Given the description of an element on the screen output the (x, y) to click on. 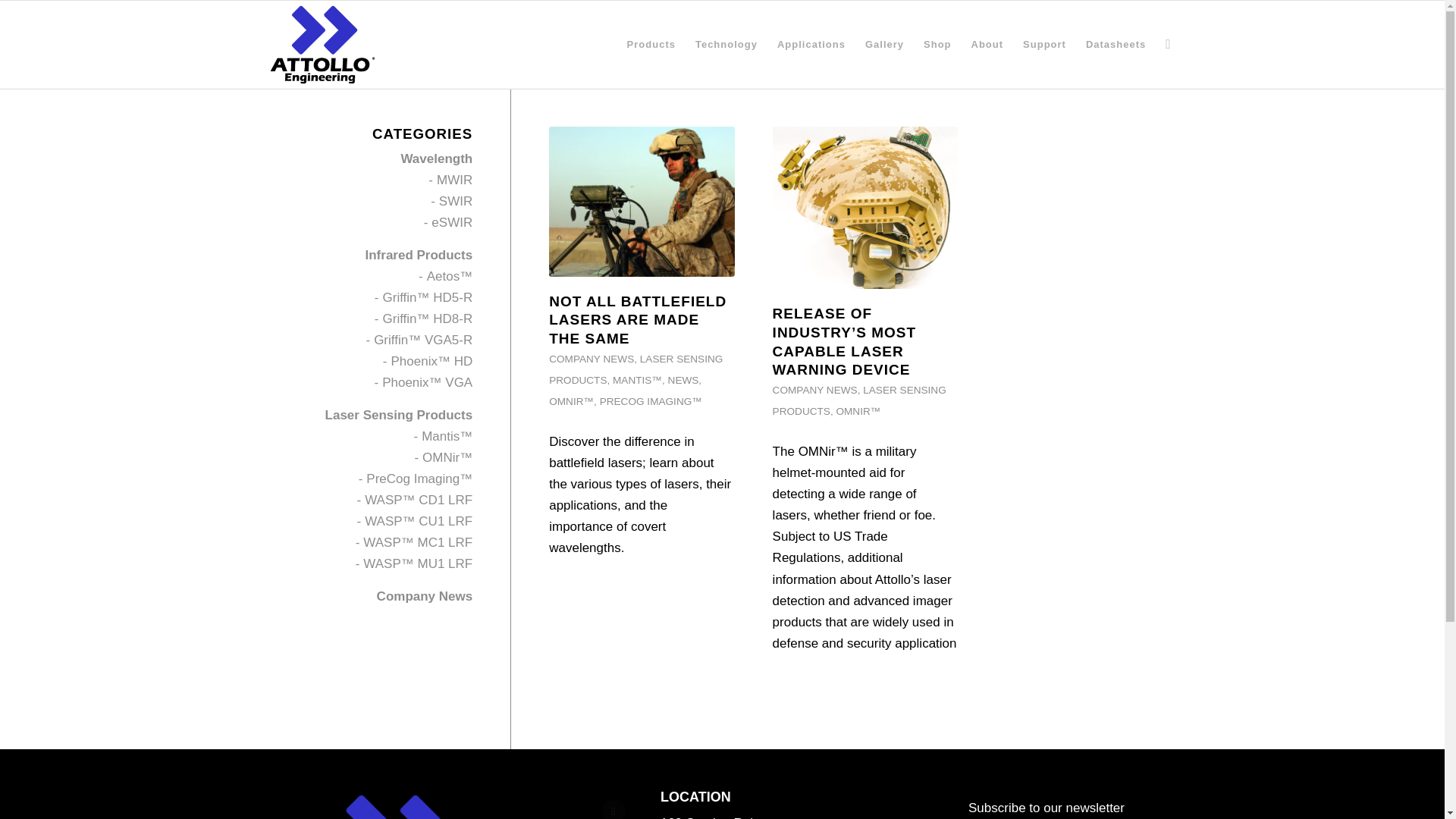
Not all Battlefield Lasers are Made the Same (637, 318)
Technology (726, 44)
Applications (811, 44)
Not all Battlefield Lasers are Made the Same (640, 201)
attollo-engineering-white (397, 803)
